Given the description of an element on the screen output the (x, y) to click on. 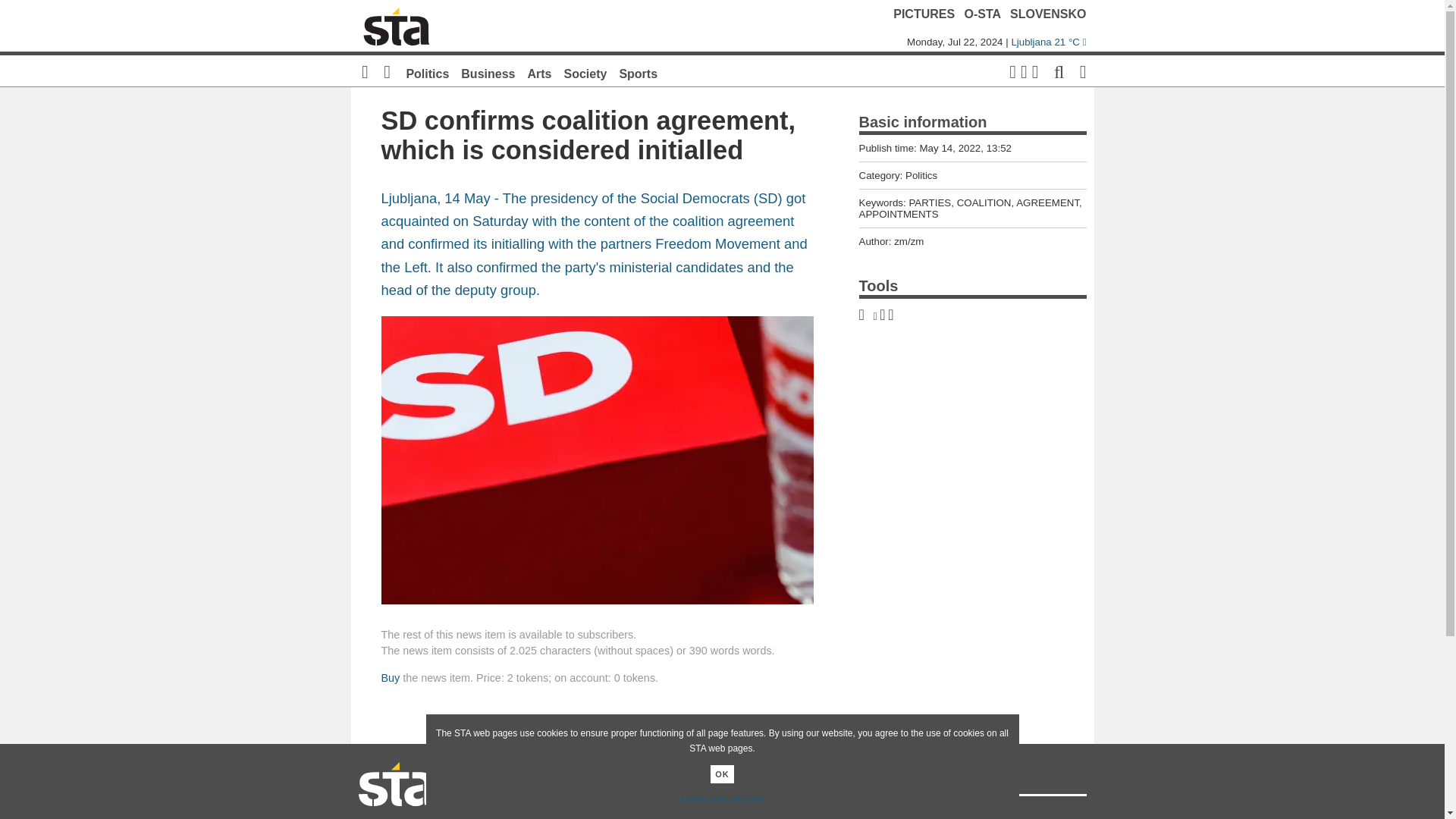
O-STA (982, 13)
STAschedule (767, 815)
Business (488, 73)
STAenglish (858, 815)
STApictures (676, 815)
PICTURES (924, 13)
SLOVENSKO (1048, 13)
Arts (539, 73)
Politics (427, 73)
Society (585, 73)
STAnews (585, 815)
Sports (638, 73)
Buy (389, 677)
